Given the description of an element on the screen output the (x, y) to click on. 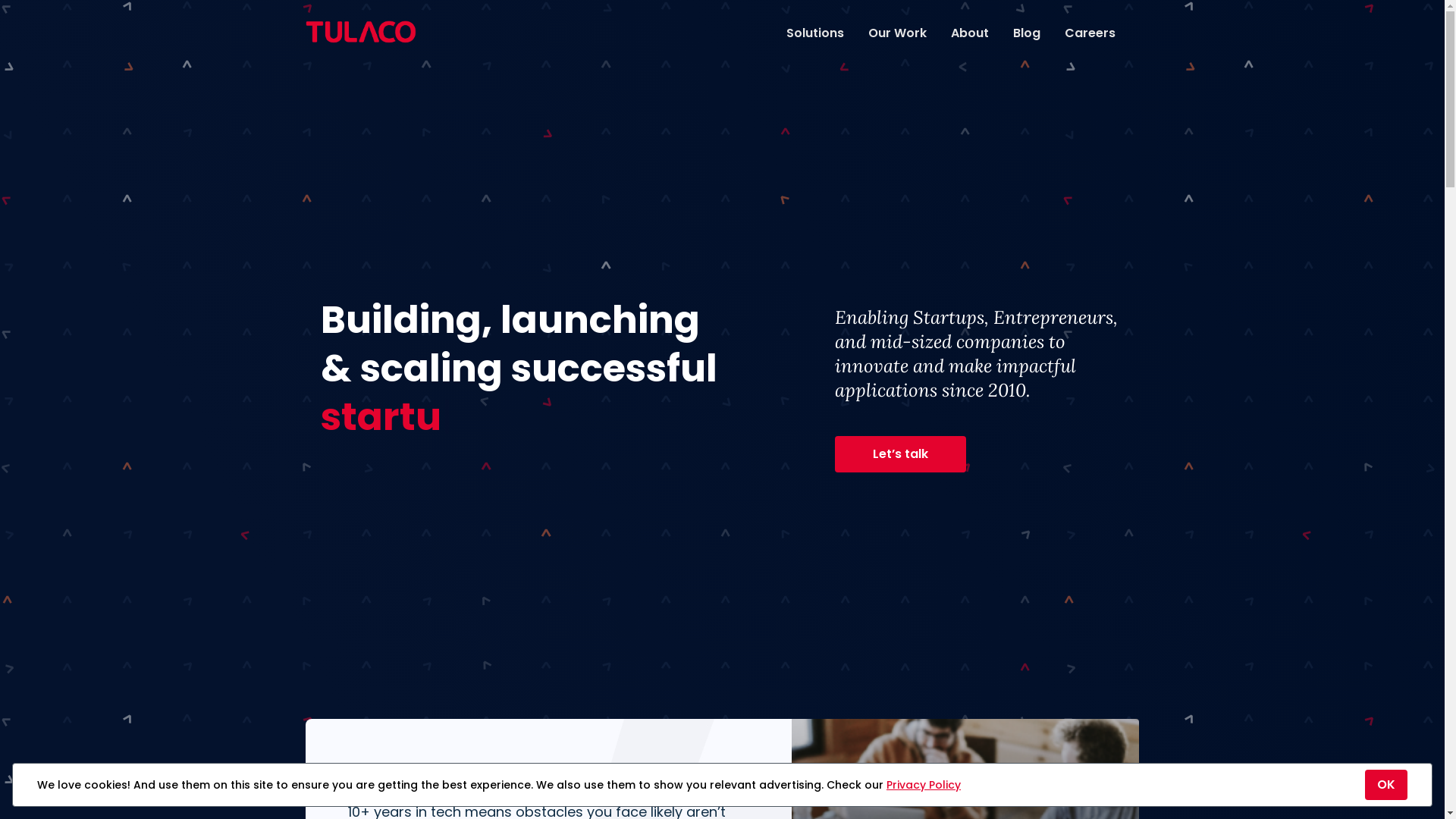
About Element type: text (969, 31)
Blog Element type: text (1026, 31)
Our Work Element type: text (896, 31)
Privacy Policy Element type: text (923, 784)
Careers Element type: text (1089, 31)
OK Element type: text (1386, 784)
Solutions Element type: text (814, 31)
